Given the description of an element on the screen output the (x, y) to click on. 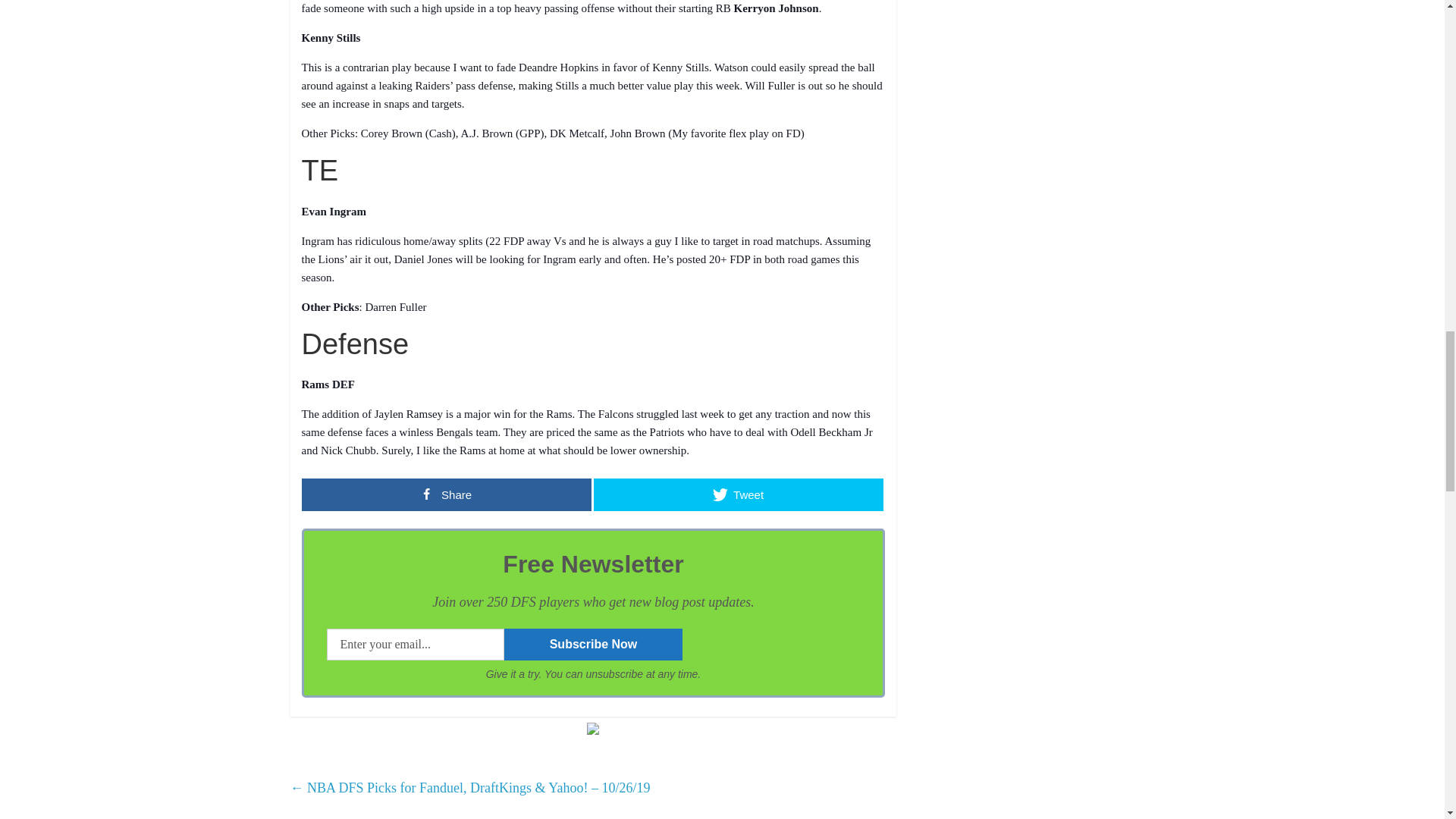
Share (446, 494)
Tweet (737, 494)
Subscribe Now (592, 644)
Subscribe Now (592, 644)
